Given the description of an element on the screen output the (x, y) to click on. 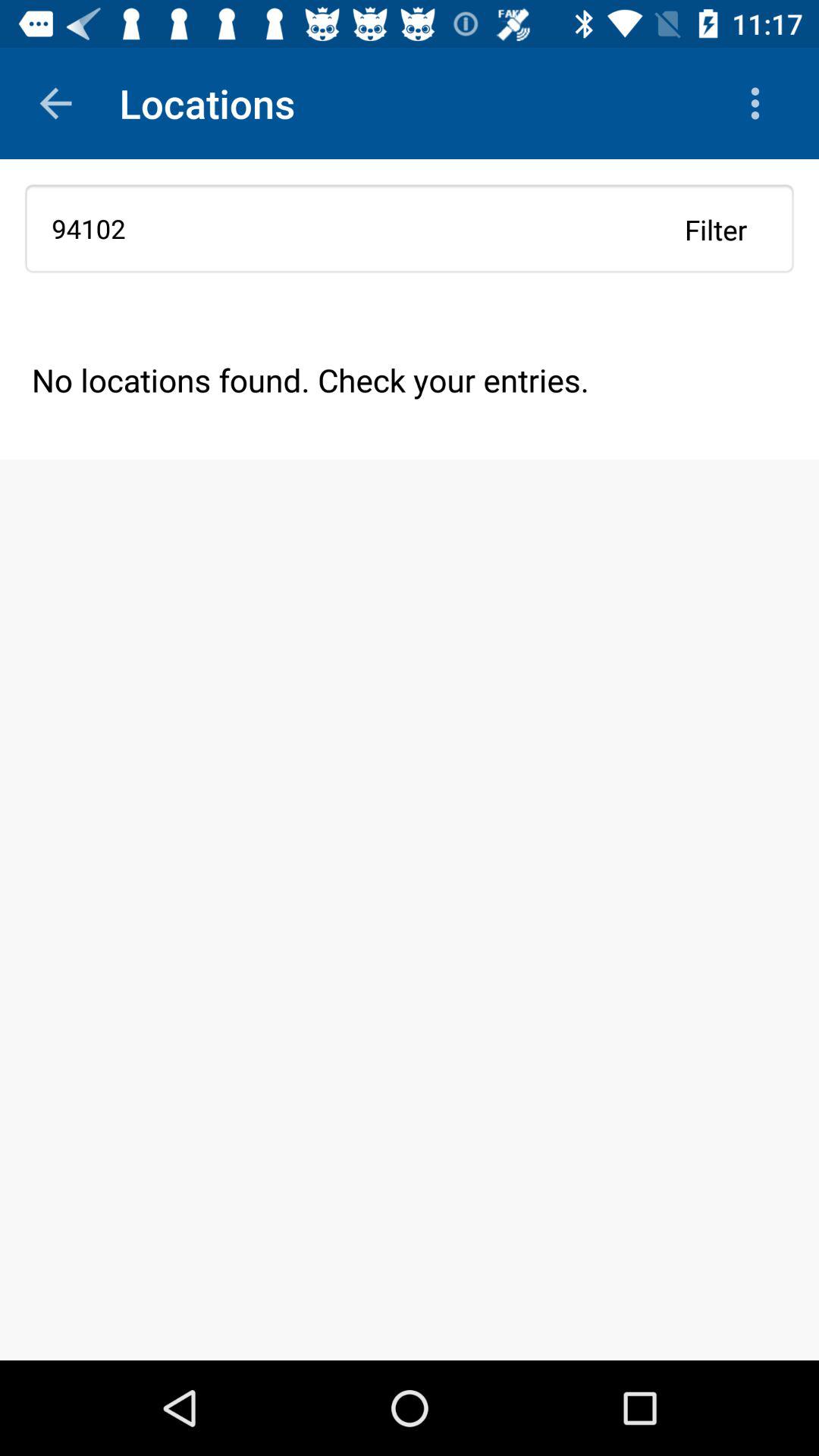
turn on filter (715, 229)
